Given the description of an element on the screen output the (x, y) to click on. 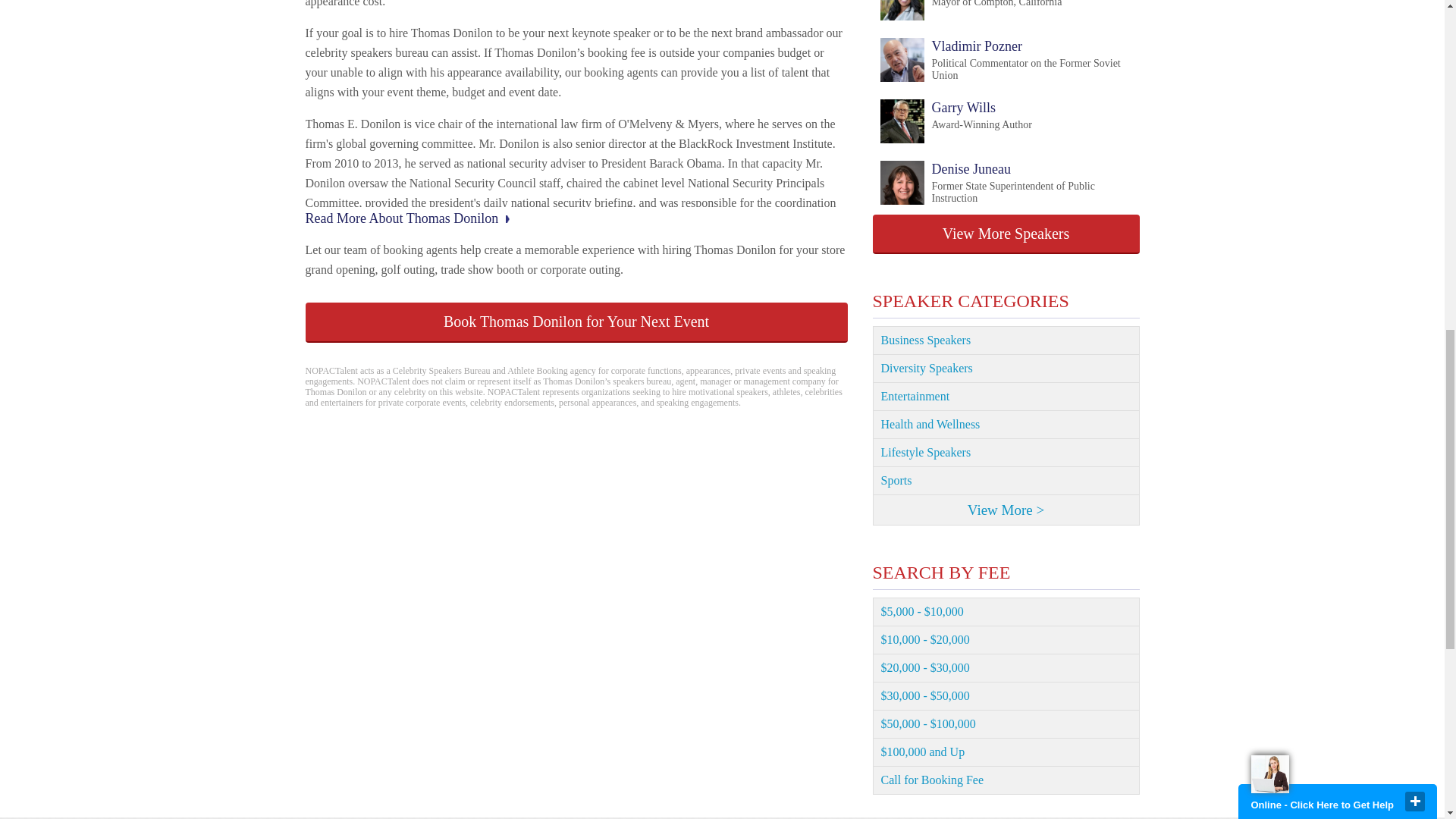
Entertainment (1005, 397)
Sports (1005, 480)
Book Thomas Donilon for Your Next Event (575, 322)
Business Speakers (1005, 339)
Diversity Speakers (970, 11)
Lifestyle Speakers (1005, 368)
View More Speakers (1005, 452)
Health and Wellness (954, 122)
